Given the description of an element on the screen output the (x, y) to click on. 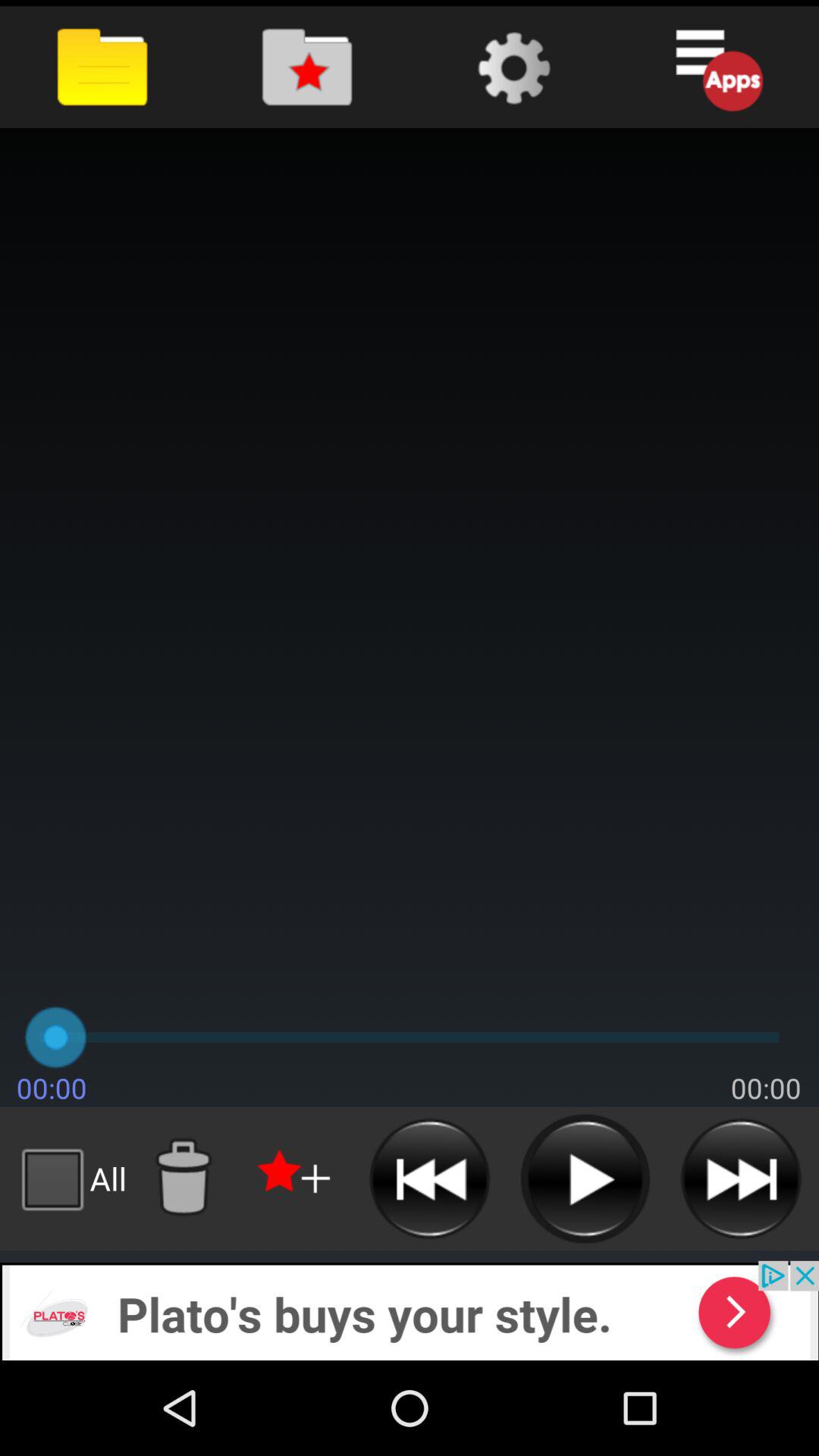
view advertisement (409, 1310)
